Given the description of an element on the screen output the (x, y) to click on. 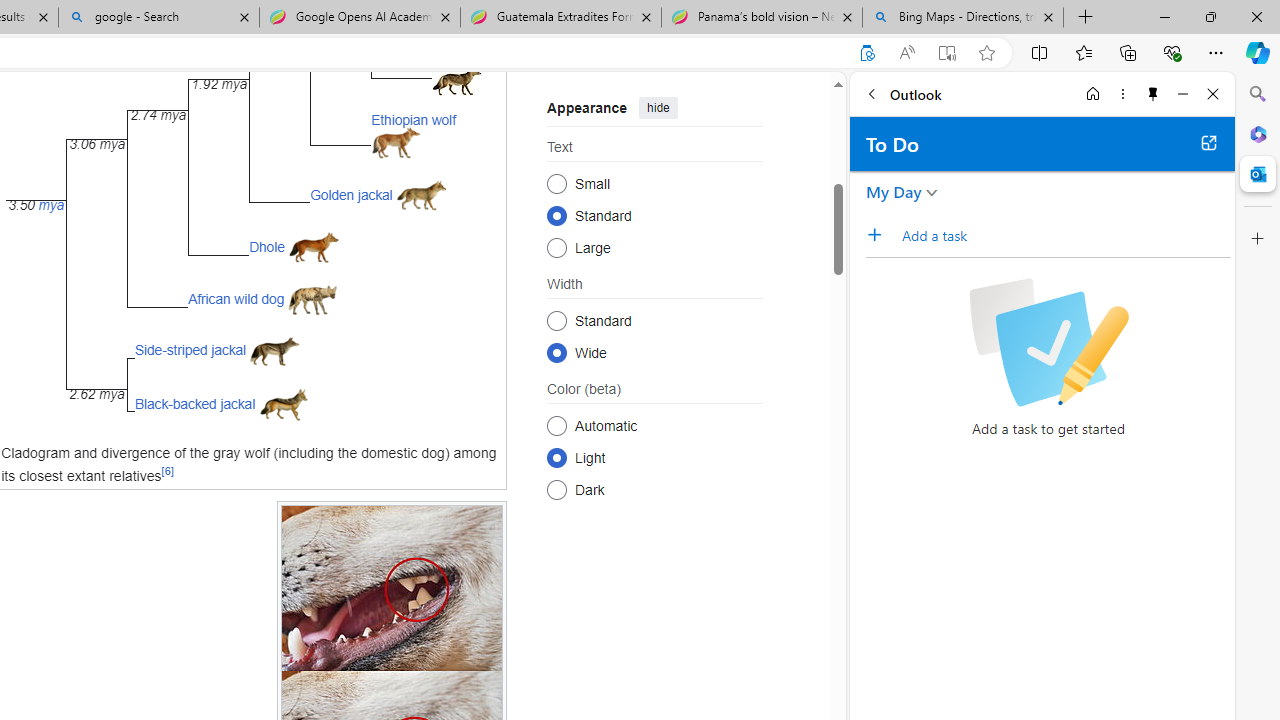
My Day (893, 191)
mya (51, 205)
Class: mw-list-item mw-list-item-js (654, 457)
Standard (556, 320)
Checkbox with a pencil (1047, 342)
[6] (168, 471)
